Given the description of an element on the screen output the (x, y) to click on. 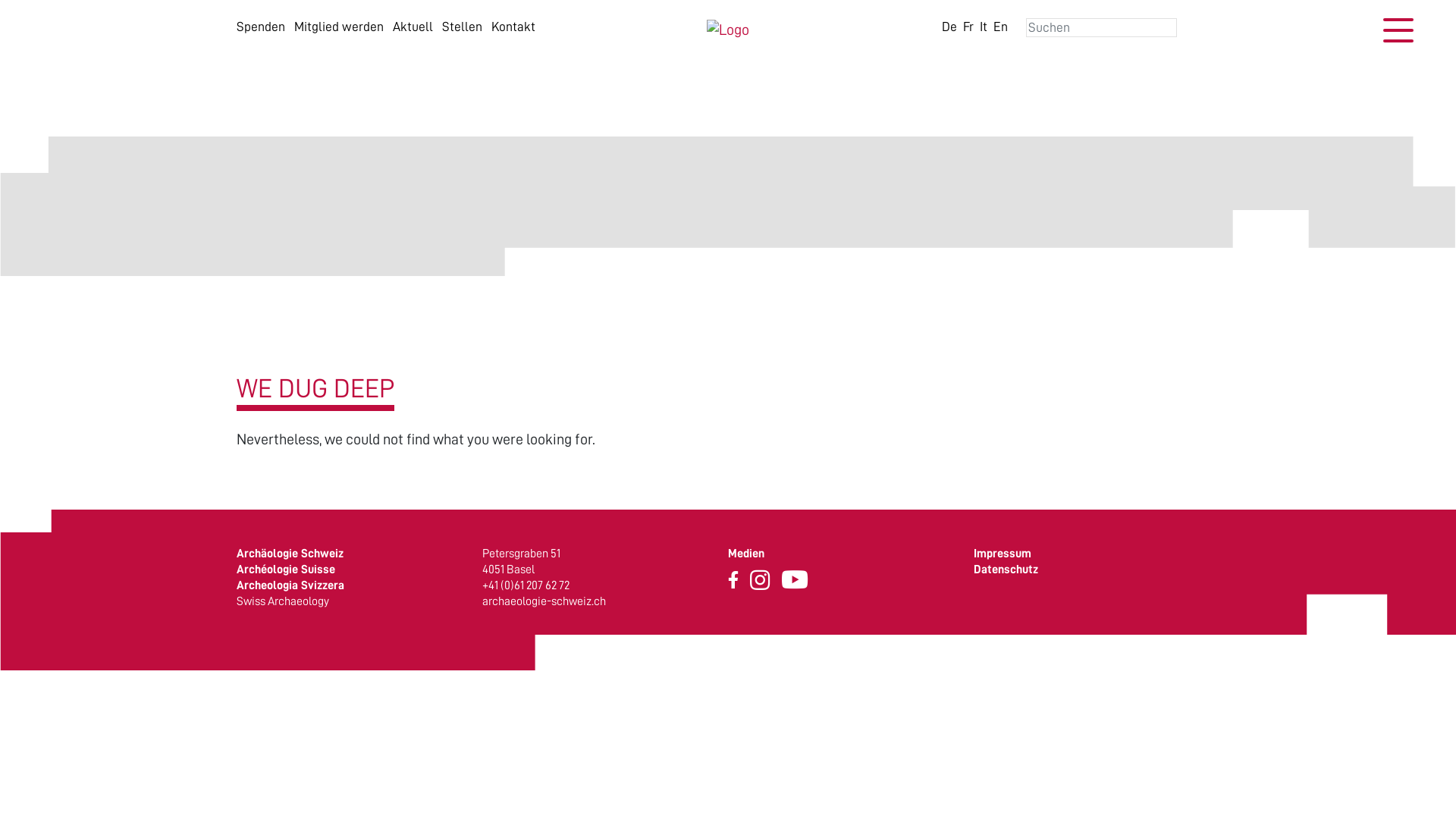
Fr Element type: text (968, 26)
Stellen Element type: text (462, 26)
Medien Element type: text (746, 553)
Mitglied werden Element type: text (338, 26)
Search Element type: text (41, 12)
It Element type: text (983, 26)
Impressum Element type: text (1002, 553)
En Element type: text (1000, 26)
Spenden Element type: text (260, 26)
Aktuell Element type: text (412, 26)
Kontakt Element type: text (513, 26)
Datenschutz Element type: text (1005, 569)
De Element type: text (949, 26)
